Given the description of an element on the screen output the (x, y) to click on. 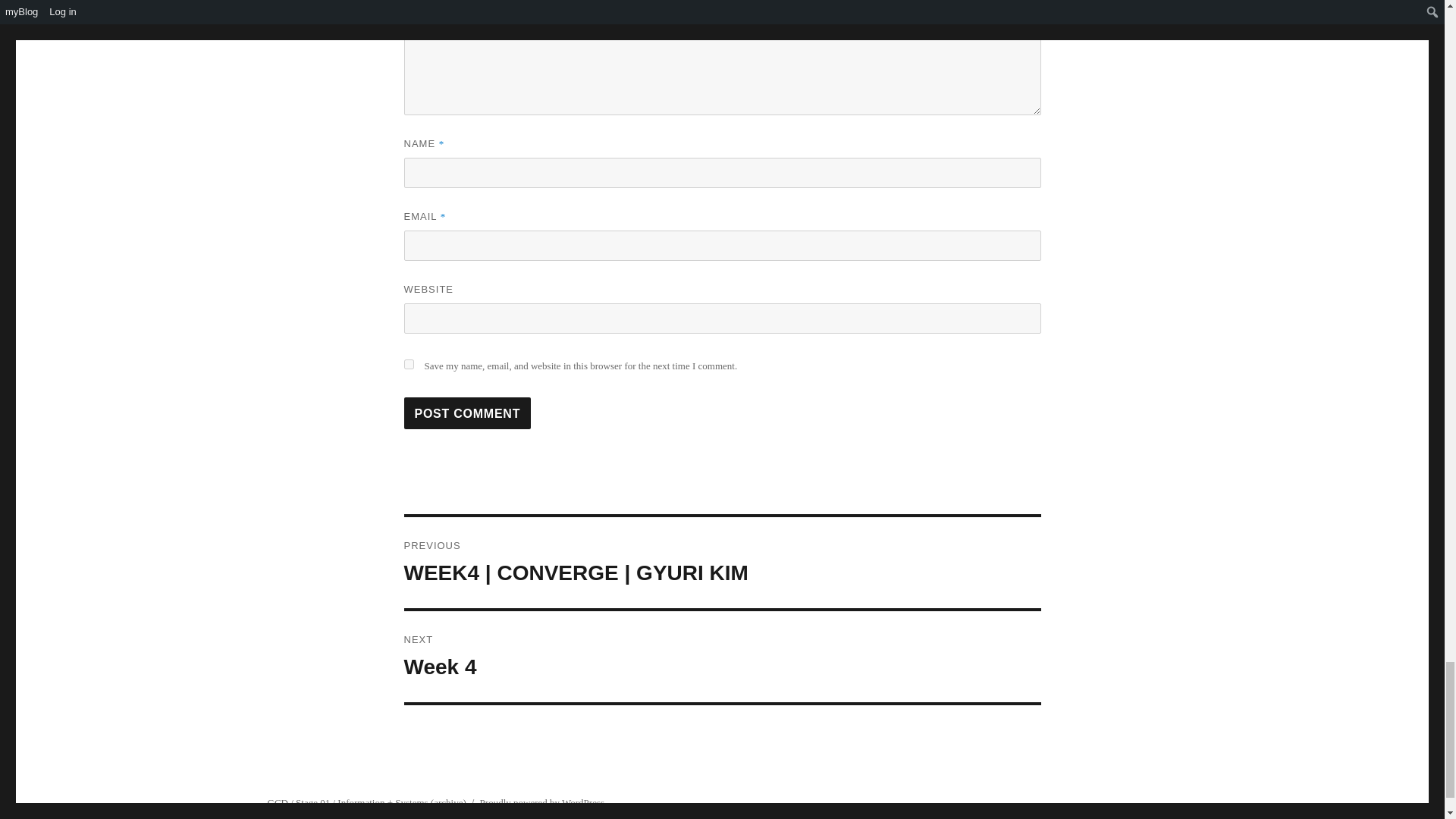
Proudly powered by WordPress (542, 802)
Post Comment (467, 413)
Post Comment (467, 413)
yes (408, 364)
